Given the description of an element on the screen output the (x, y) to click on. 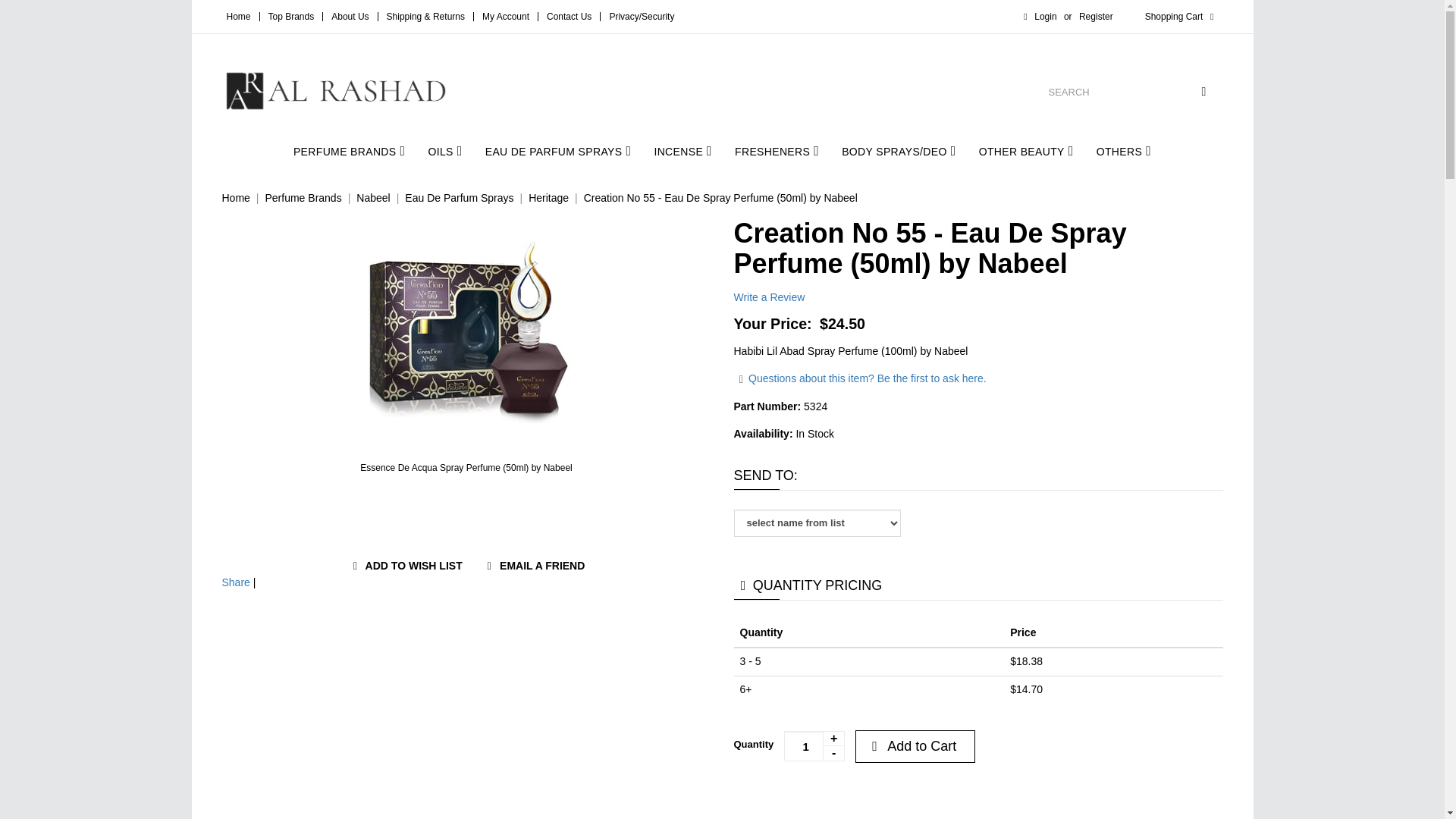
Contact Us (568, 16)
My Account (505, 16)
1 (814, 746)
PERFUME BRANDS (349, 150)
Shopping Cart (1181, 16)
Home (237, 16)
Login (1037, 16)
Top Brands (290, 16)
OILS (444, 150)
Register (1096, 16)
